Given the description of an element on the screen output the (x, y) to click on. 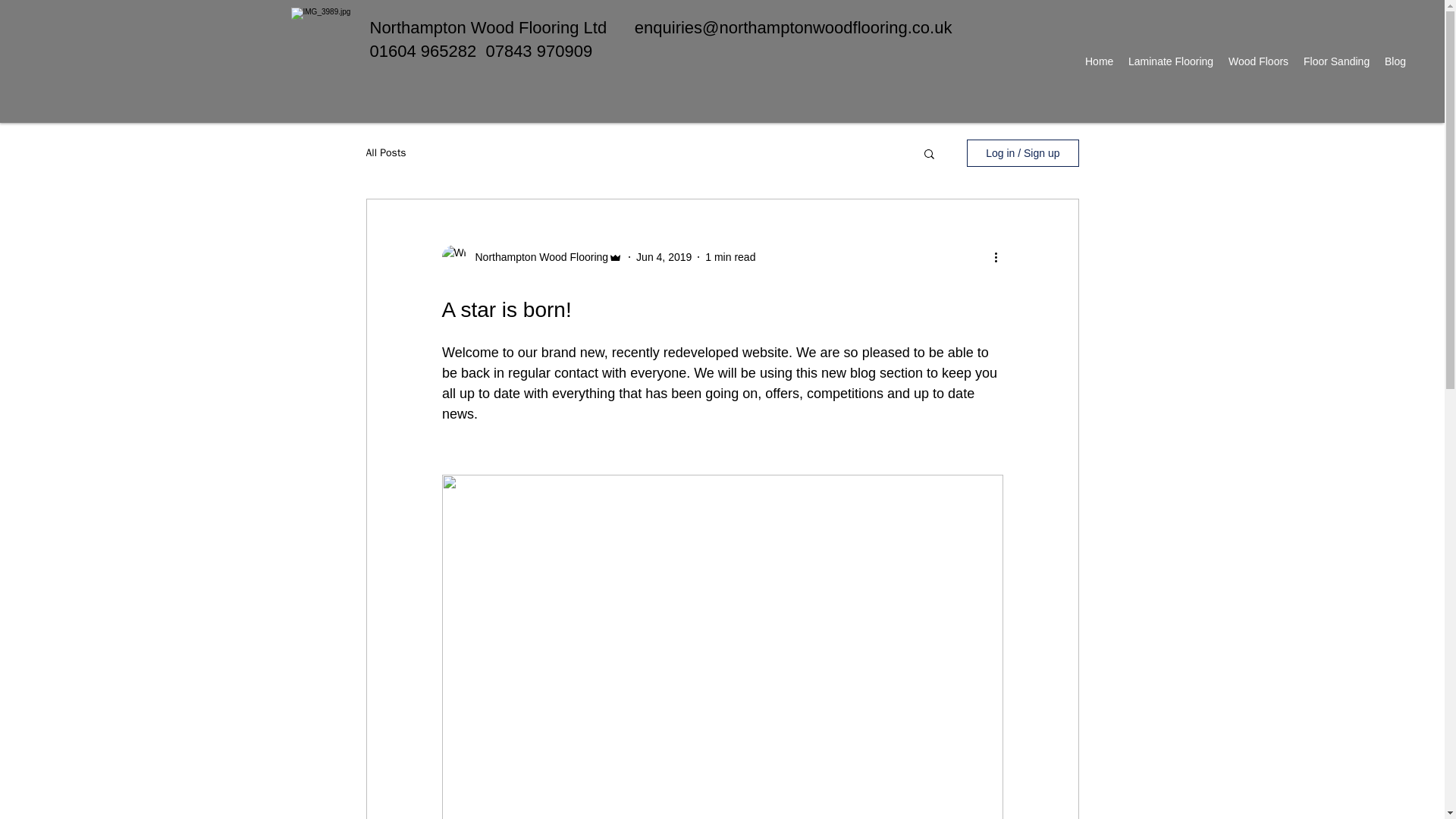
All Posts (385, 152)
01604 965282  07843 970909 (480, 50)
1 min read (729, 256)
Home (1099, 60)
Floor Sanding (1336, 60)
Laminate Flooring (1171, 60)
Blog (1395, 60)
Northampton Wood Flooring (536, 256)
Wood Floors (1258, 60)
Jun 4, 2019 (663, 256)
